Given the description of an element on the screen output the (x, y) to click on. 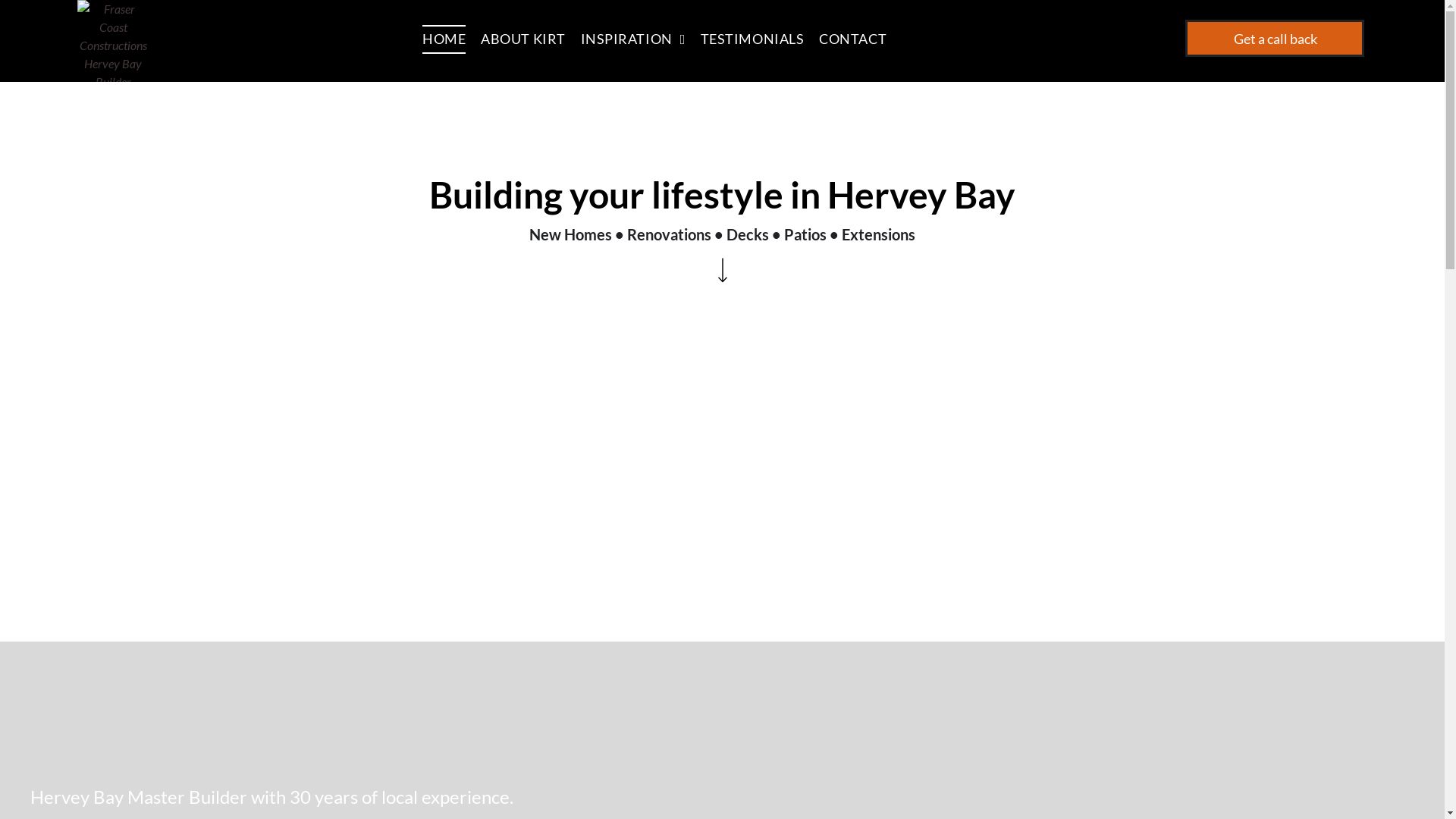
ABOUT KIRT Element type: text (530, 39)
TESTIMONIALS Element type: text (759, 39)
HOME Element type: text (451, 39)
INSPIRATION Element type: text (640, 39)
Get a call back Element type: text (1274, 37)
CONTACT Element type: text (860, 39)
